Given the description of an element on the screen output the (x, y) to click on. 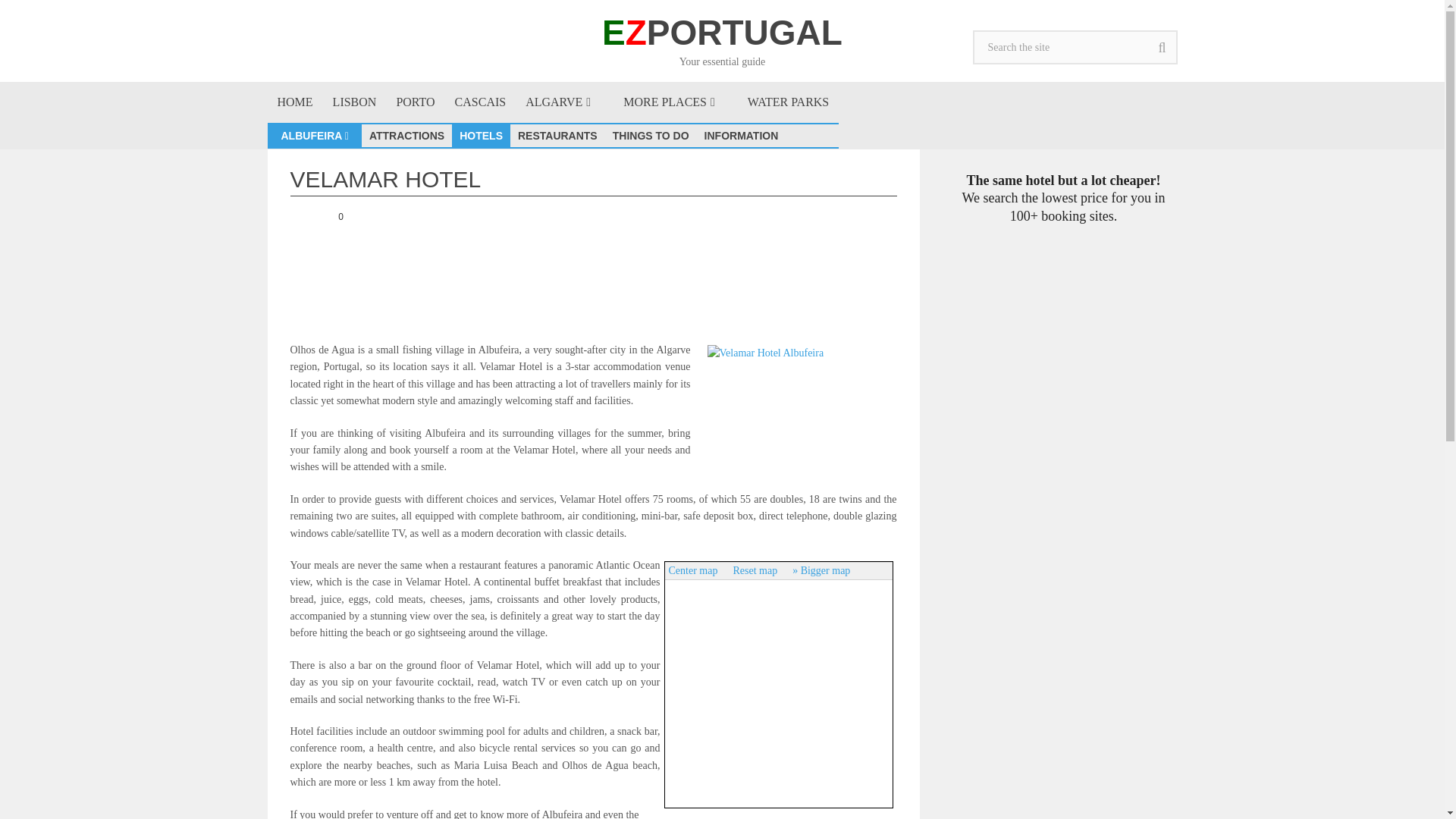
ALBUFEIRA (318, 135)
PORTO (414, 102)
ALGARVE (563, 102)
LISBON (355, 102)
Essential guide to Portugal (293, 102)
EZPORTUGAL (722, 32)
WATER PARKS (788, 102)
MORE PLACES (675, 102)
Lisbon portugal (355, 102)
Porto Portugal (414, 102)
